Given the description of an element on the screen output the (x, y) to click on. 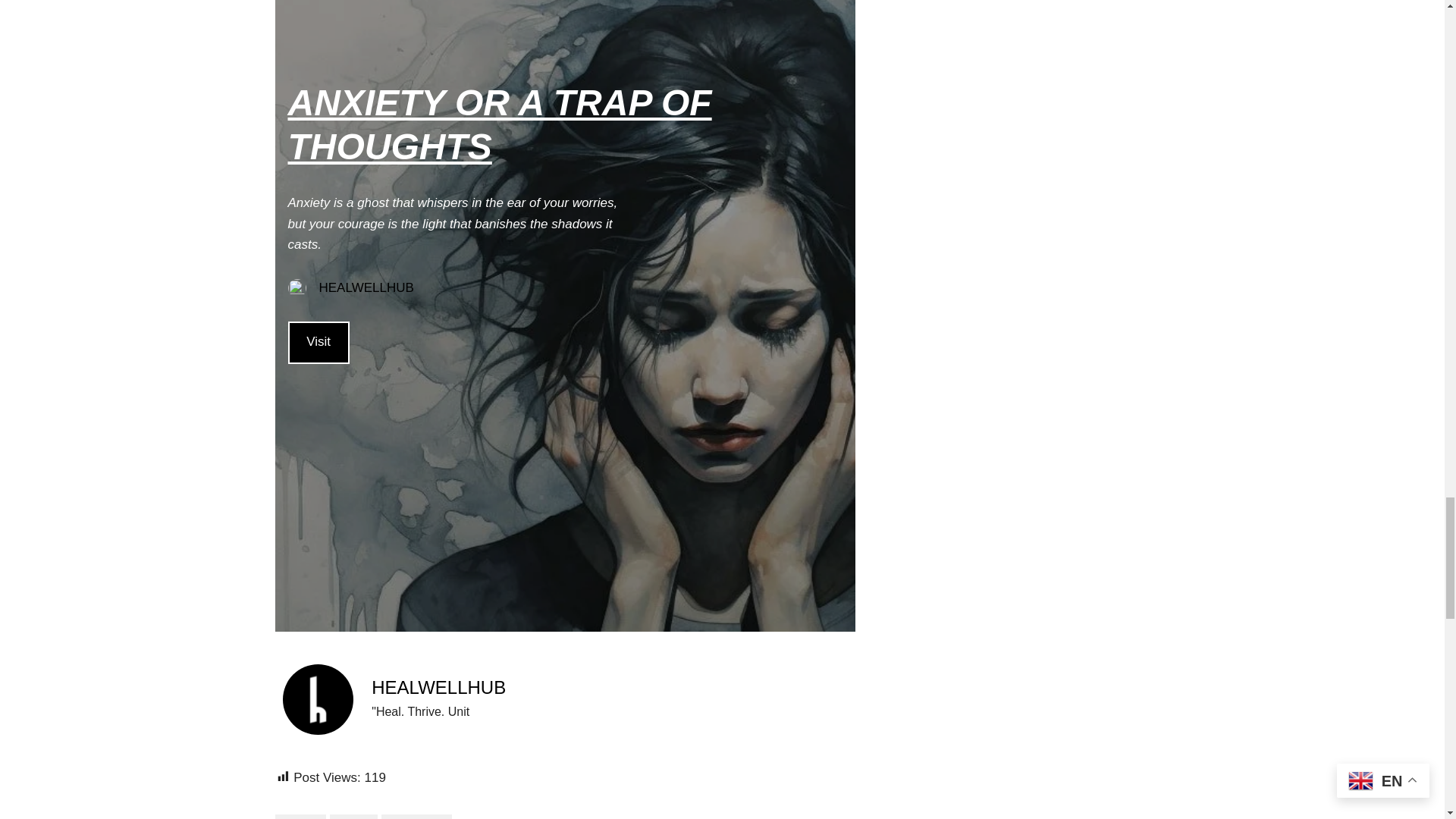
HEALTH (353, 816)
HEALTHCARE (416, 816)
DISEASE (300, 816)
HEALWELLHUB (438, 687)
Visit (318, 342)
